Given the description of an element on the screen output the (x, y) to click on. 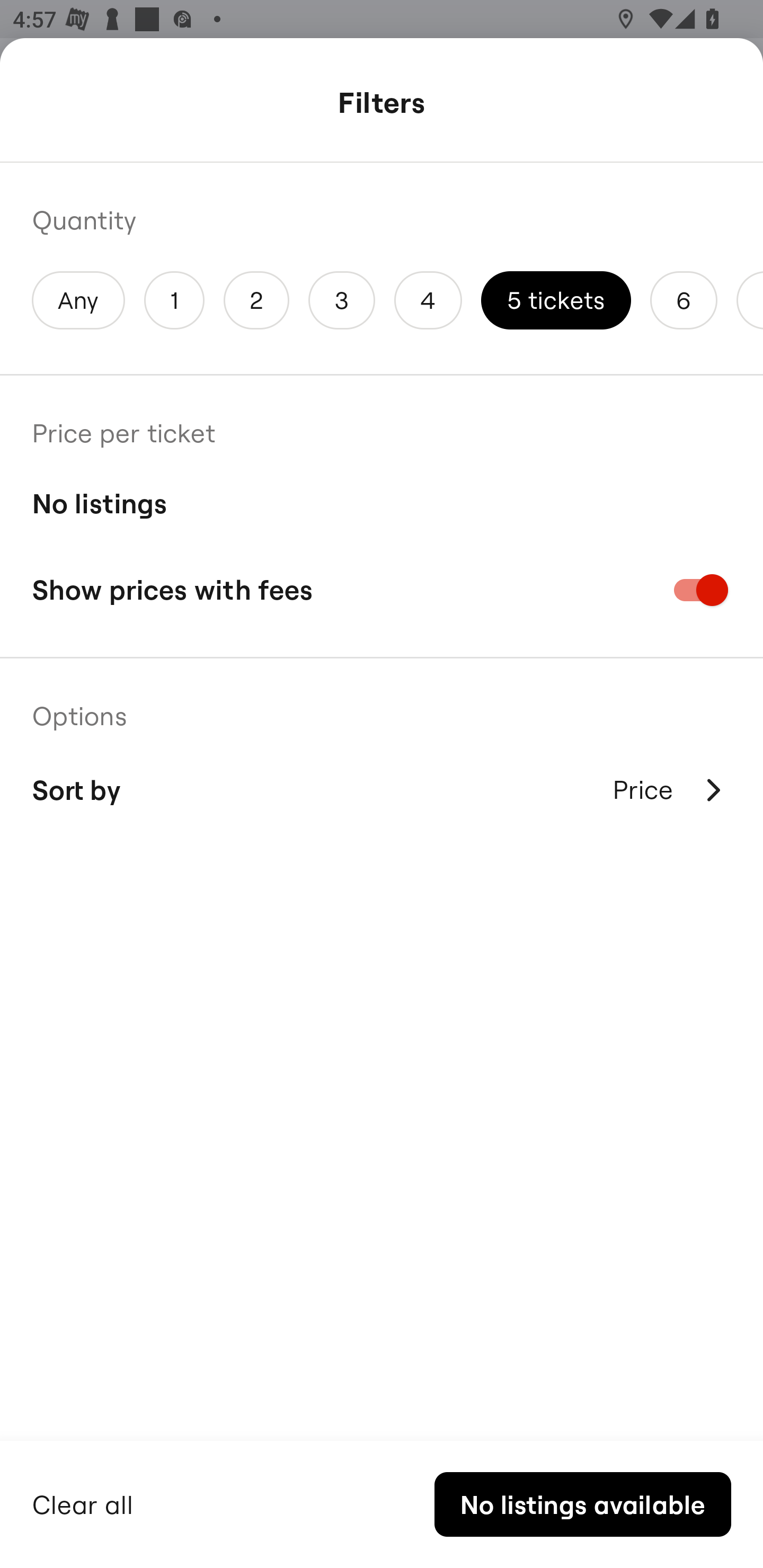
Back Wicked - Los Angeles Wed, Dec 4, 7:30 PM Info (381, 104)
Any (78, 300)
1 (173, 300)
2 (256, 300)
3 (341, 300)
4 (427, 300)
5 tickets (556, 300)
6 (684, 300)
Show prices with fees (381, 589)
Sort by Price (381, 789)
Clear all (83, 1502)
No listings available (582, 1504)
